Given the description of an element on the screen output the (x, y) to click on. 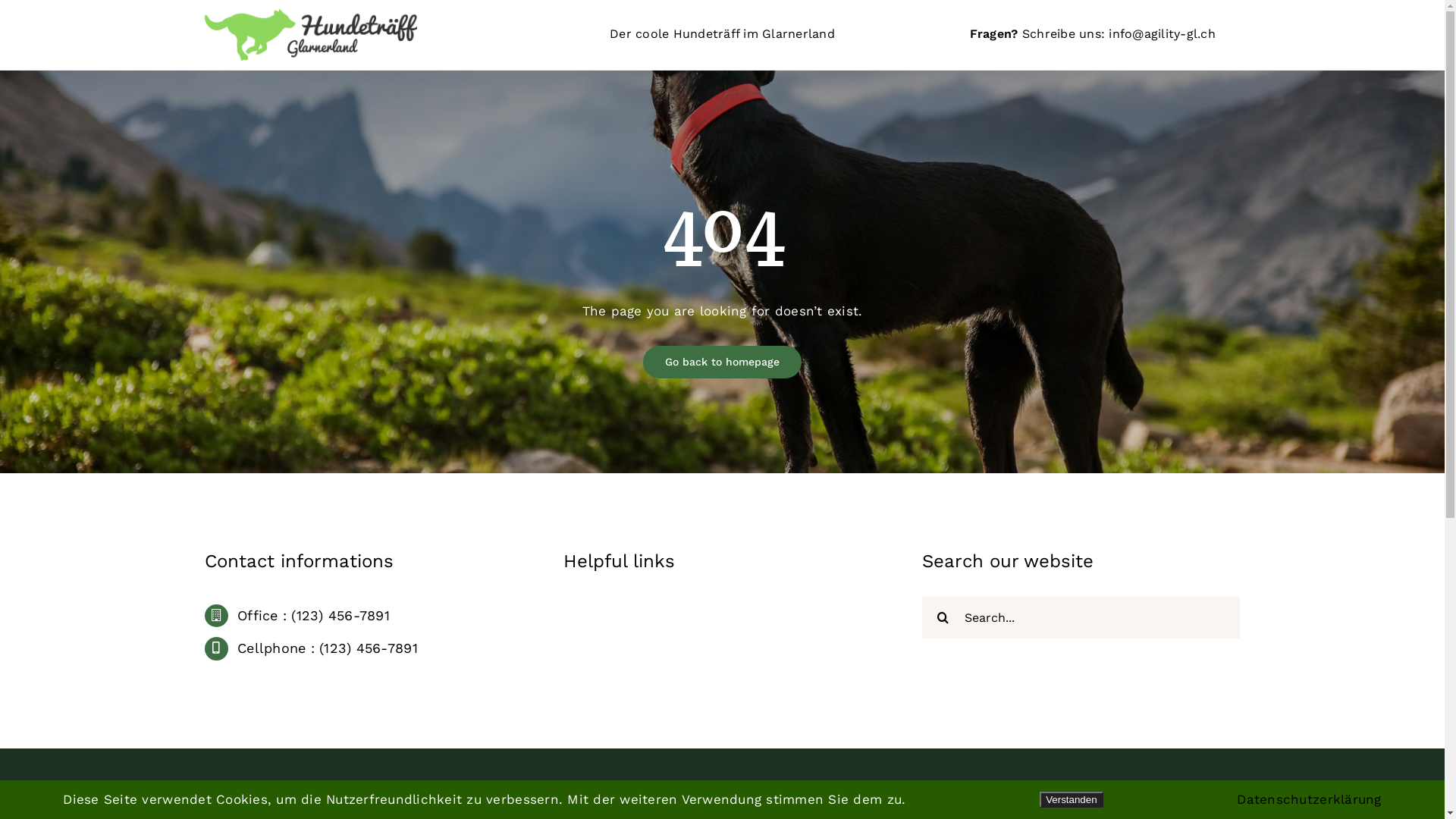
Verstanden Element type: text (1070, 799)
Go back to homepage Element type: text (722, 361)
info@agility-gl.ch Element type: text (1161, 33)
